Given the description of an element on the screen output the (x, y) to click on. 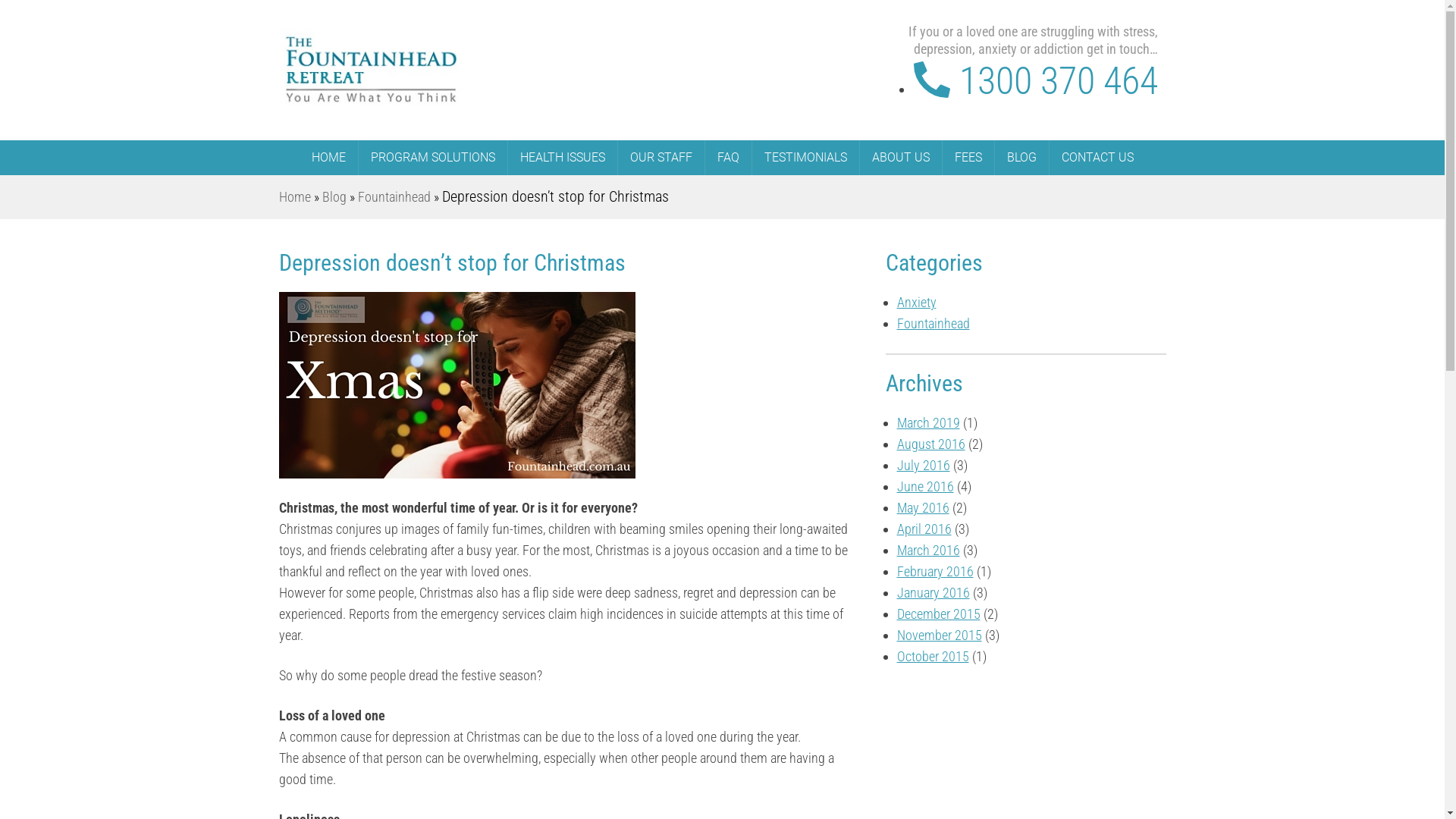
Home Element type: text (294, 196)
PROGRAM SOLUTIONS Element type: text (431, 157)
December 2015 Element type: text (937, 613)
1300 370 464 Element type: text (1035, 81)
October 2015 Element type: text (932, 656)
Anxiety Element type: text (915, 302)
March 2019 Element type: text (927, 422)
TESTIMONIALS Element type: text (805, 157)
July 2016 Element type: text (922, 465)
HEALTH ISSUES Element type: text (562, 157)
BLOG Element type: text (1021, 157)
February 2016 Element type: text (934, 571)
March 2016 Element type: text (927, 550)
January 2016 Element type: text (932, 592)
FAQ Element type: text (728, 157)
August 2016 Element type: text (930, 443)
ABOUT US Element type: text (900, 157)
FEES Element type: text (967, 157)
April 2016 Element type: text (923, 528)
CONTACT US Element type: text (1097, 157)
May 2016 Element type: text (922, 507)
Fountainhead Element type: text (393, 196)
Fountainhead Element type: text (932, 323)
November 2015 Element type: text (938, 635)
Blog Element type: text (333, 196)
OUR STAFF Element type: text (660, 157)
HOME Element type: text (327, 157)
June 2016 Element type: text (924, 486)
